Given the description of an element on the screen output the (x, y) to click on. 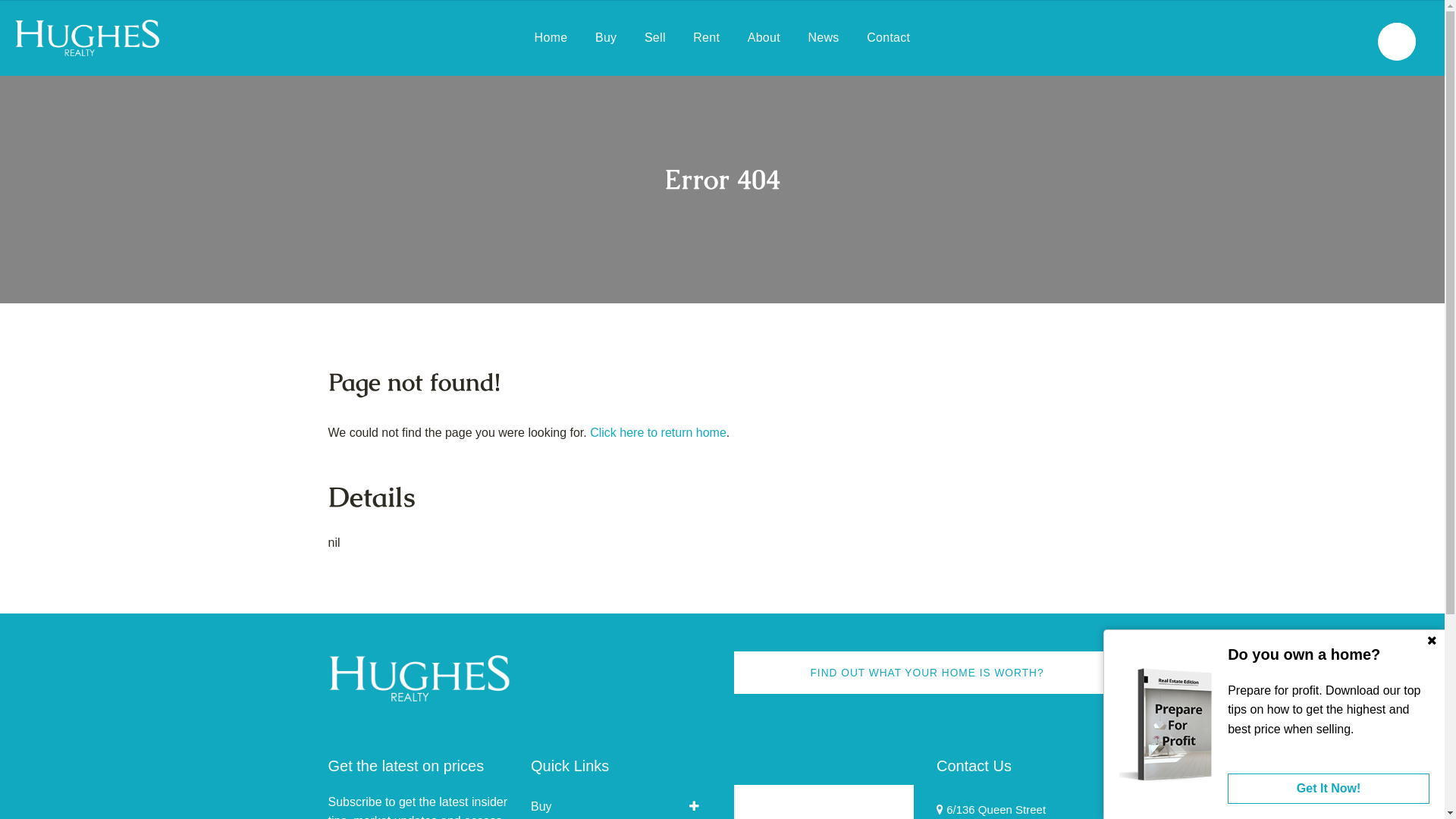
News Element type: text (822, 37)
Home Element type: text (550, 37)
FIND OUT WHAT YOUR HOME IS WORTH? Element type: text (927, 672)
Buy Element type: text (605, 37)
Contact Element type: text (888, 37)
Hughes Realty Element type: text (798, 806)
Sell Element type: text (654, 37)
Get It Now! Element type: text (1328, 788)
Click here to return home Element type: text (657, 432)
About Element type: text (763, 37)
Rent Element type: text (706, 37)
